Given the description of an element on the screen output the (x, y) to click on. 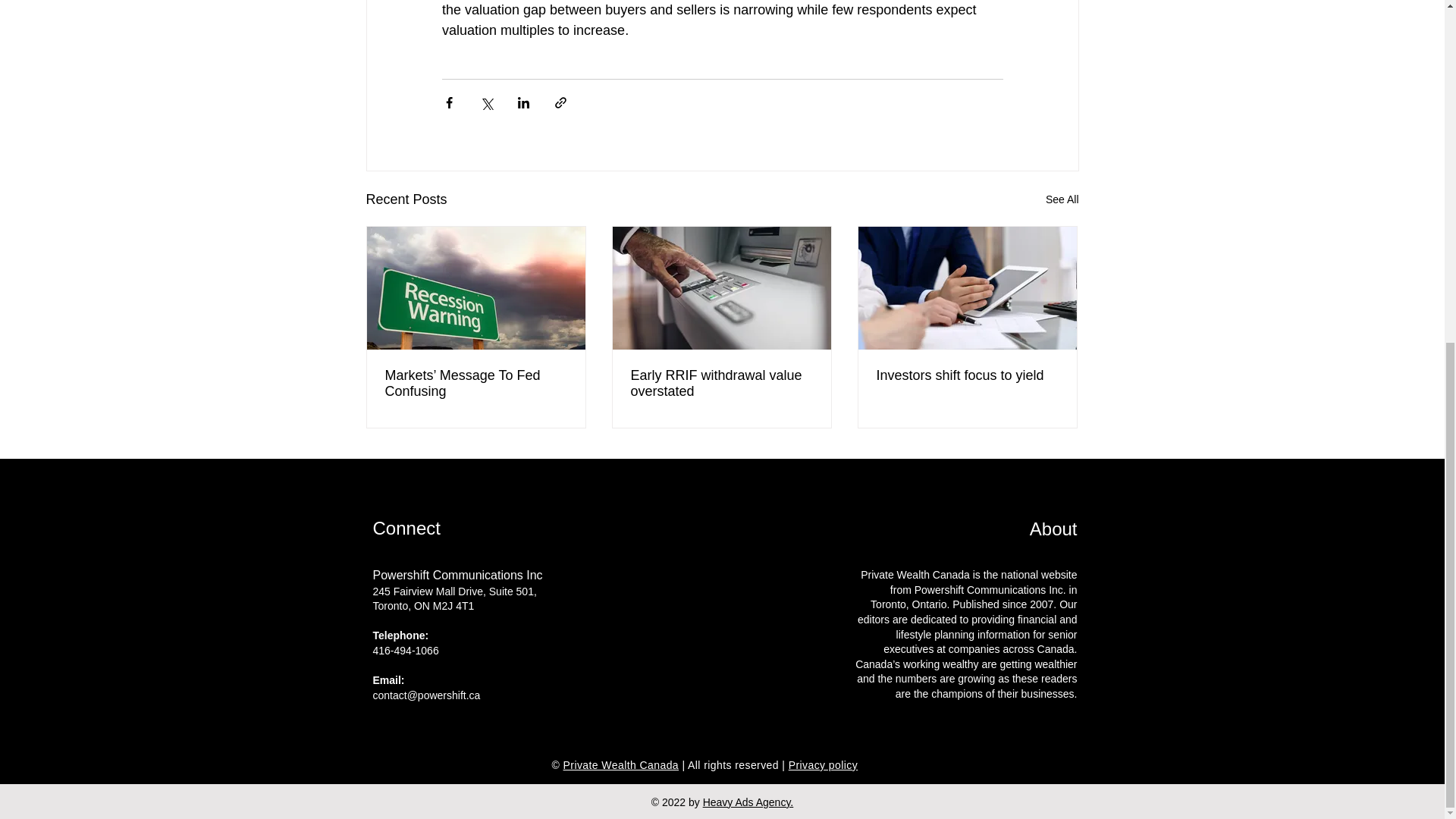
Heavy Ads Agency. (748, 802)
Privacy policy (823, 765)
Investors shift focus to yield (967, 375)
See All (1061, 199)
Private Wealth Canada (621, 765)
Early RRIF withdrawal value overstated (721, 383)
